Given the description of an element on the screen output the (x, y) to click on. 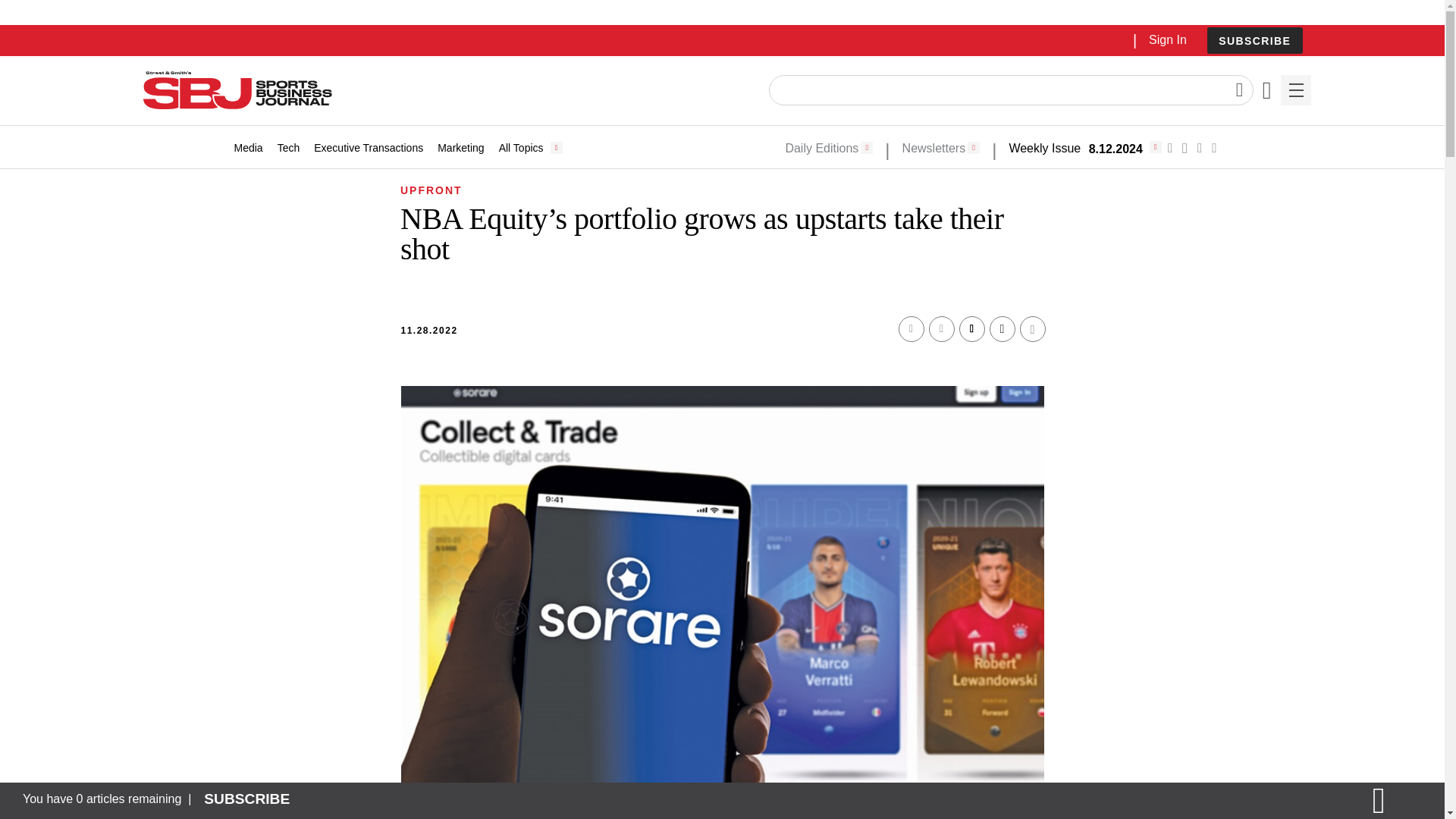
SIGN IN (1194, 324)
SUBSCRIBE (1254, 40)
Sign In (1167, 40)
SUBSCRIBE (1255, 40)
Menu (1294, 90)
